Given the description of an element on the screen output the (x, y) to click on. 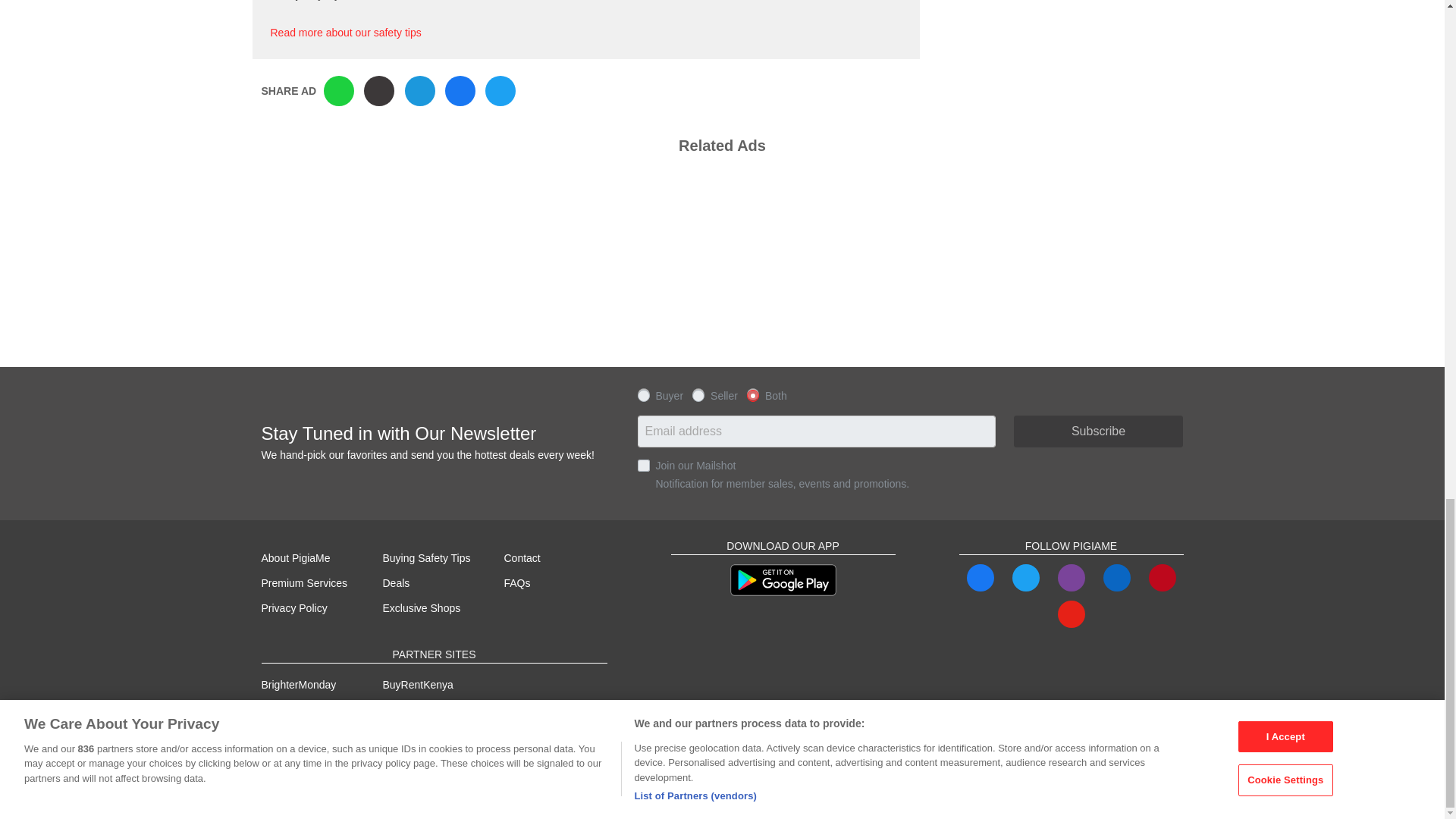
Share via Facebook (460, 91)
Share via Email (419, 91)
Read more about our safety tips (344, 32)
Share via WhatsApp (338, 91)
user (643, 394)
both (752, 394)
Share via Twitter (499, 91)
1 (643, 465)
Copy link (379, 91)
advertiser (698, 394)
